Given the description of an element on the screen output the (x, y) to click on. 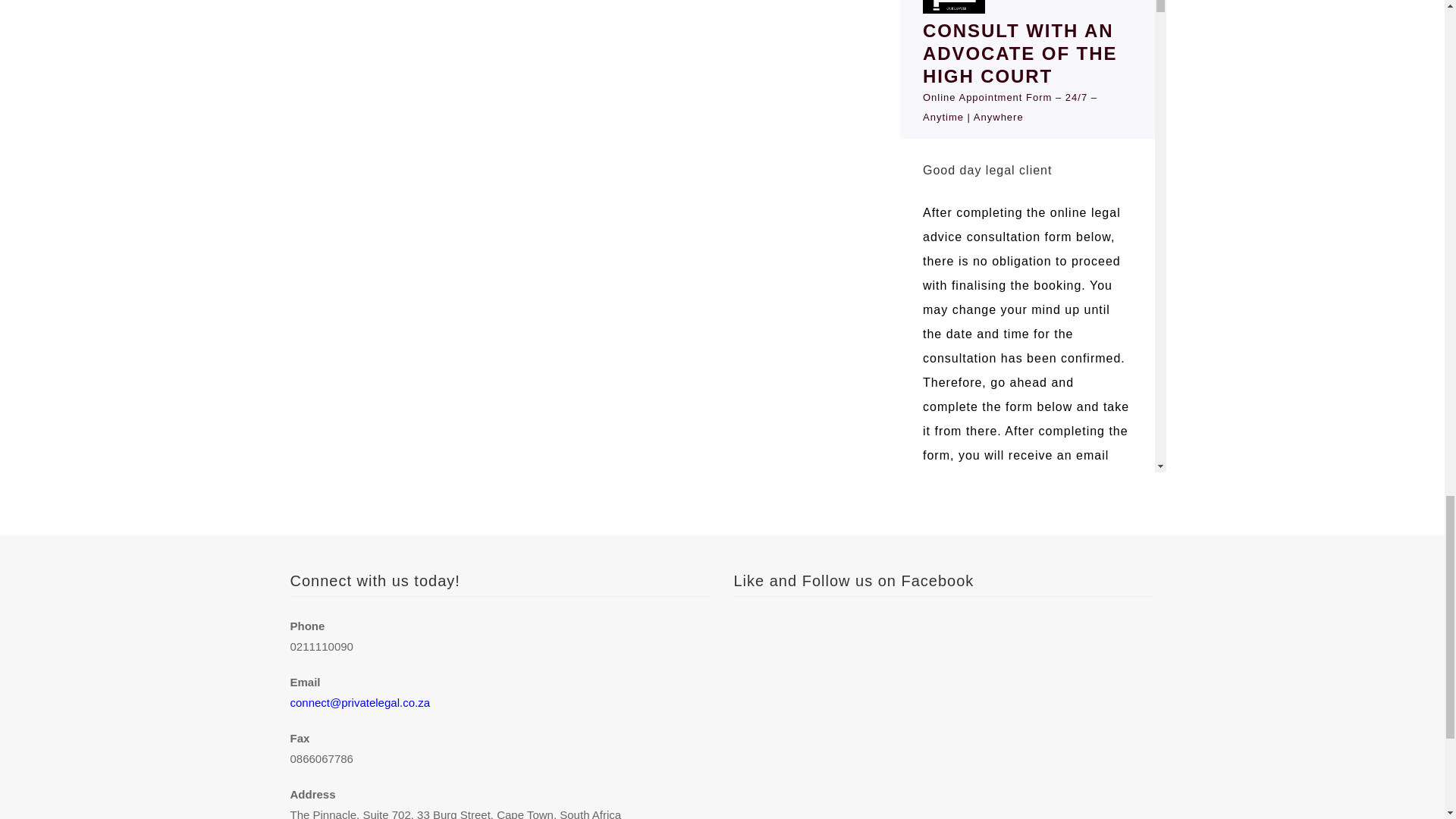
Likebox Iframe (943, 768)
